Given the description of an element on the screen output the (x, y) to click on. 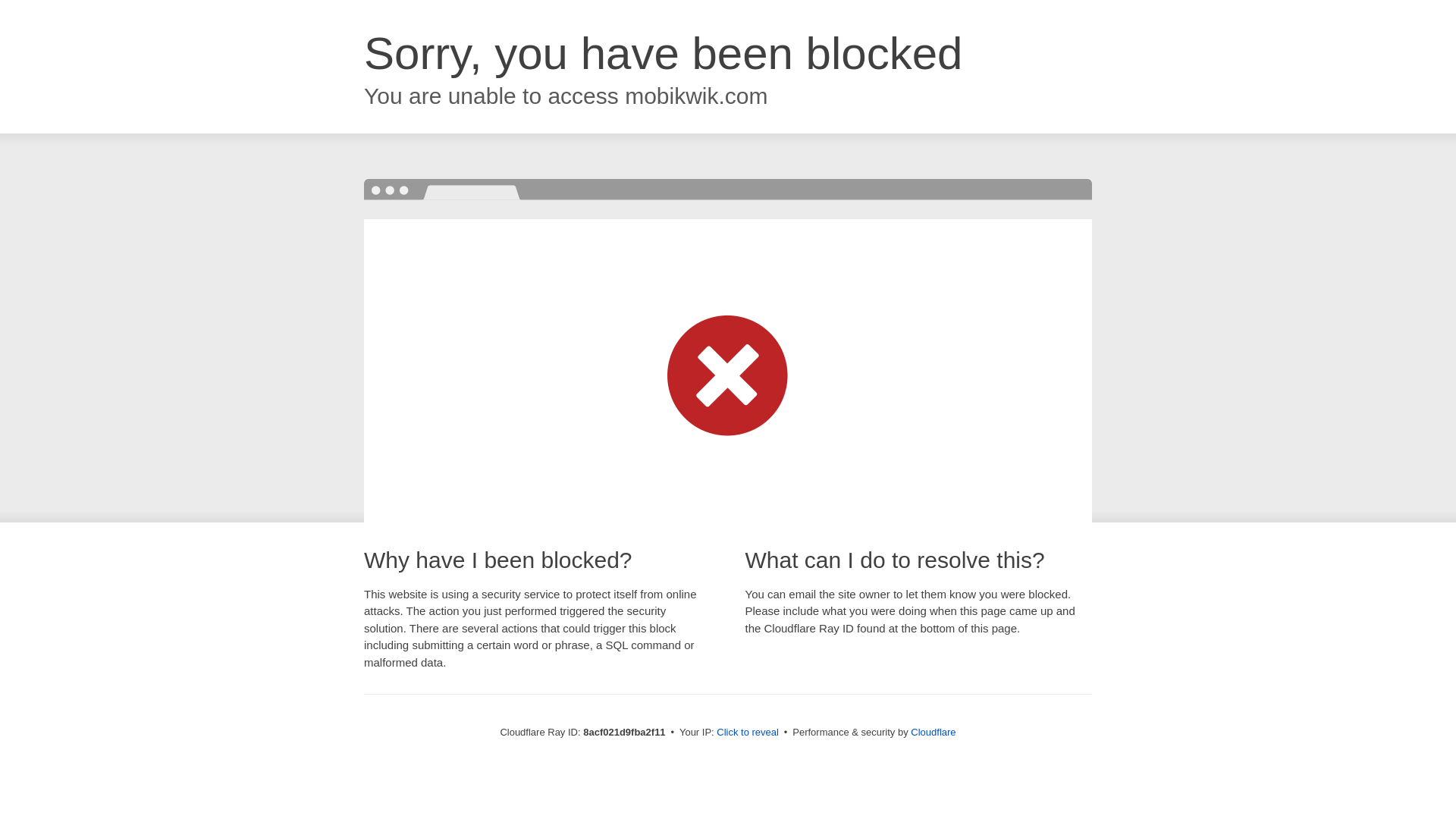
Click to reveal (747, 732)
Cloudflare (933, 731)
